Given the description of an element on the screen output the (x, y) to click on. 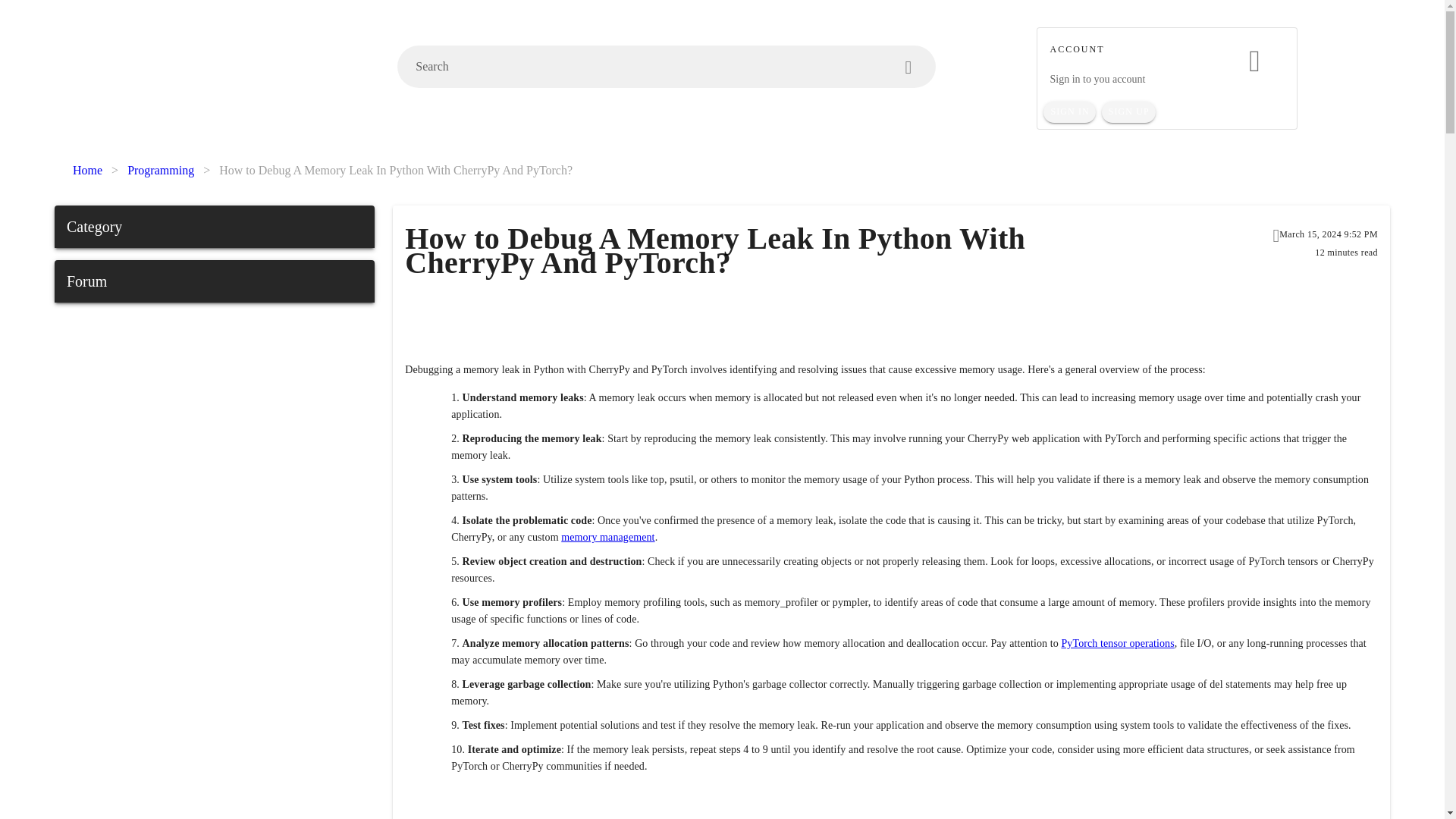
memory management (606, 536)
PyTorch tensor operations (1117, 643)
Home (86, 170)
SIGN IN (1068, 111)
Programming (160, 170)
SIGN UP (1129, 111)
